Given the description of an element on the screen output the (x, y) to click on. 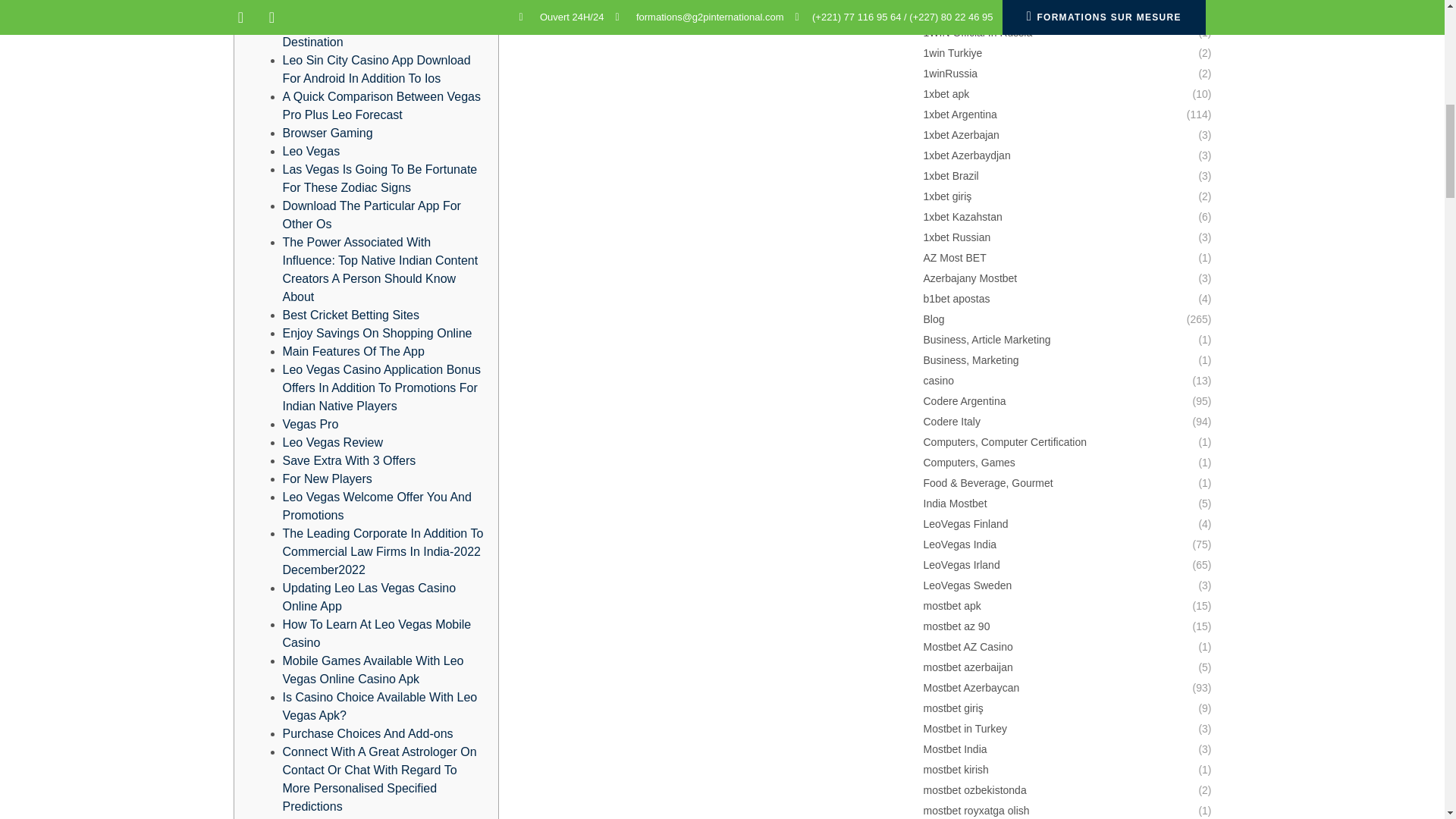
Enjoy Savings On Shopping Online (376, 332)
Leo Vegas Welcome Offer You And Promotions (376, 505)
Main Features Of The App (352, 350)
Save Extra With 3 Offers (348, 460)
Best Cricket Betting Sites (350, 314)
Browser Gaming (327, 132)
Unfortunately This App Will Be Temporarily Unavailable (363, 6)
Vegas Pro (309, 423)
Leo Vegas (310, 151)
For New Players (326, 478)
Leo Vegas Review (332, 441)
Download The Particular App For Other Os (371, 214)
